Given the description of an element on the screen output the (x, y) to click on. 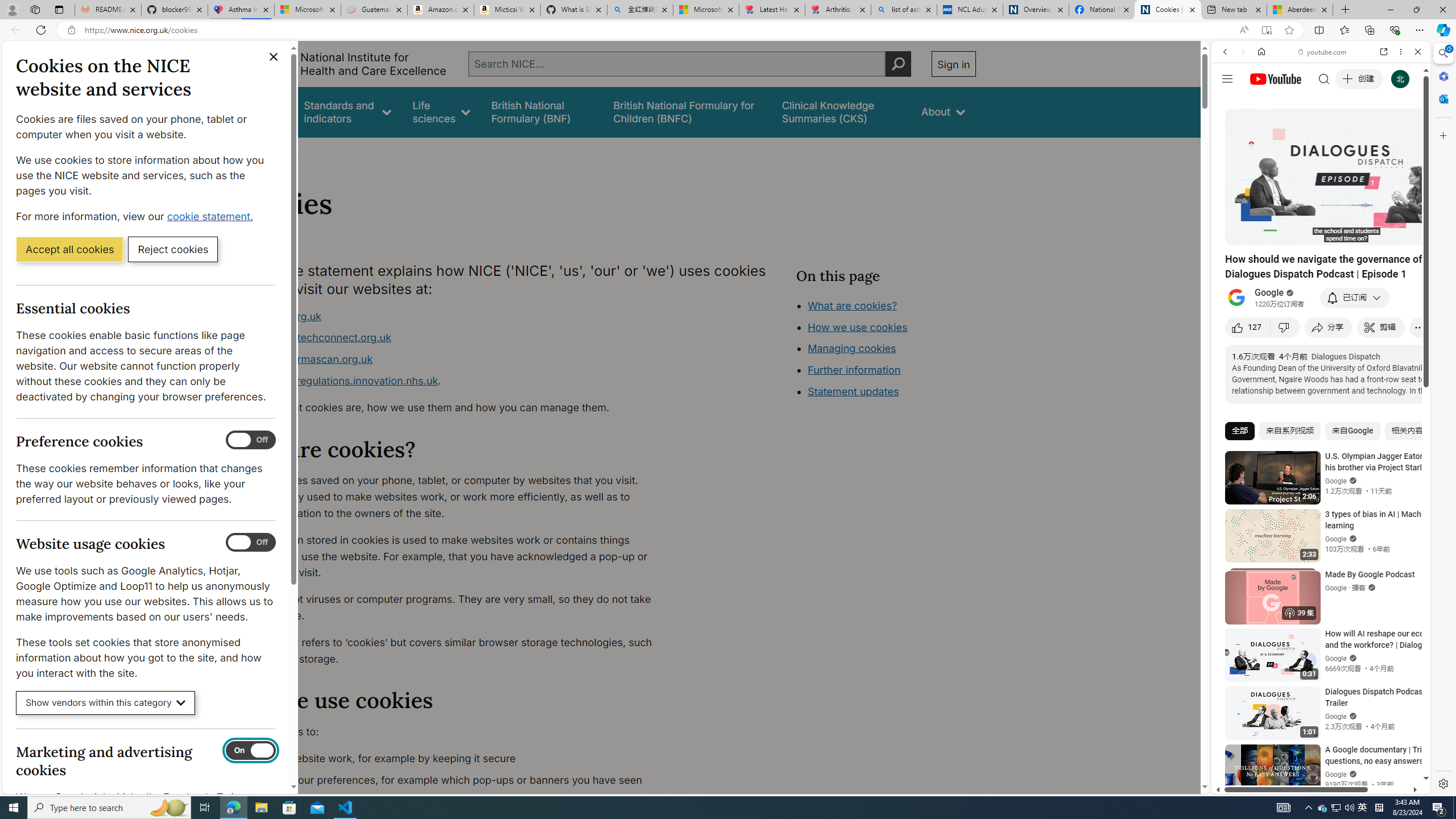
false (841, 111)
Search Filter, VIDEOS (1300, 129)
Managing cookies (852, 348)
Class: b_serphb (1404, 130)
Cookies | About | NICE (1167, 9)
Show More Music (1390, 310)
